Given the description of an element on the screen output the (x, y) to click on. 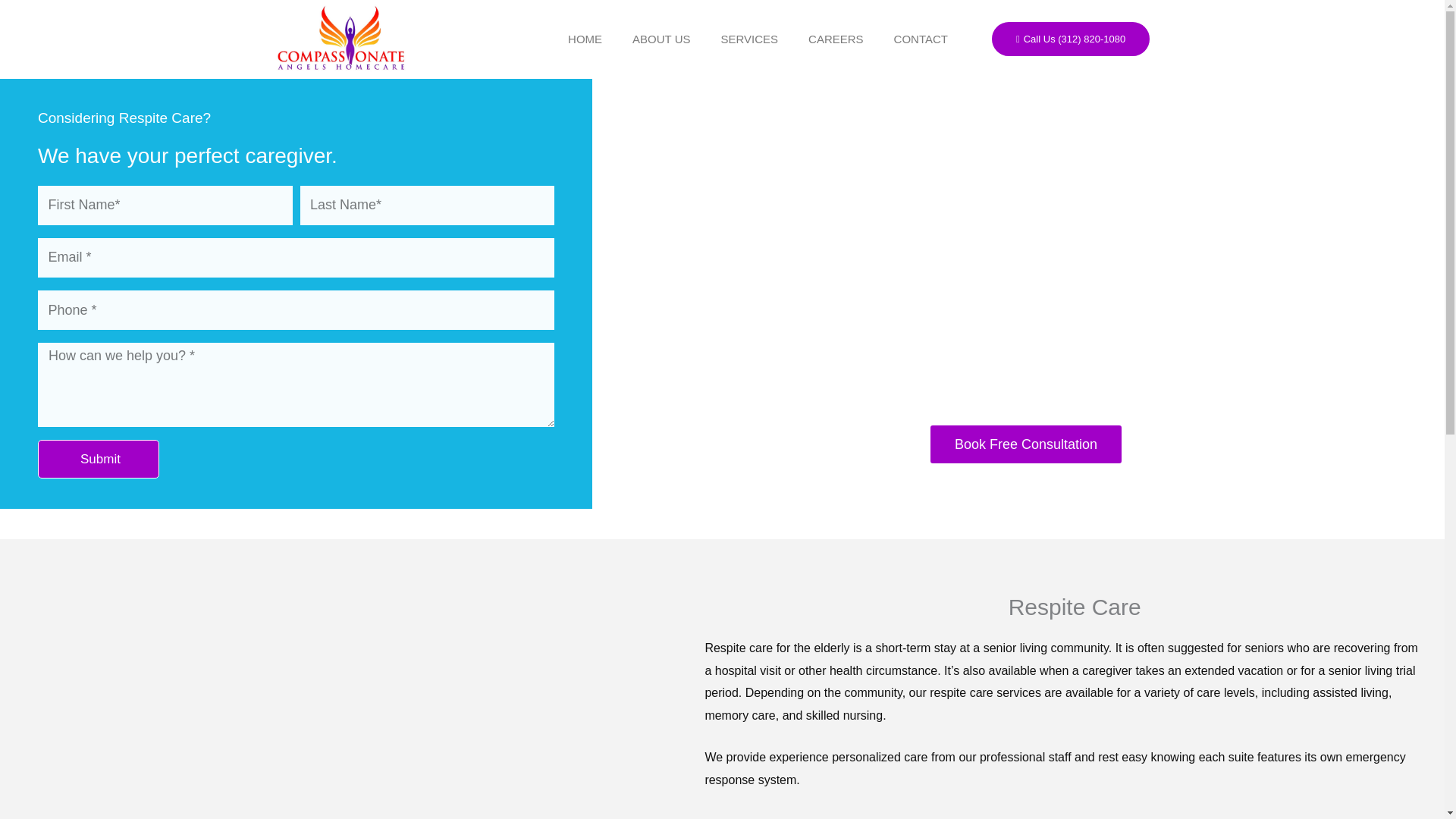
CAREERS (836, 39)
CONTACT (920, 39)
Book Free Consultation (1025, 444)
HOME (585, 39)
Submit (97, 458)
SERVICES (748, 39)
ABOUT US (660, 39)
